Given the description of an element on the screen output the (x, y) to click on. 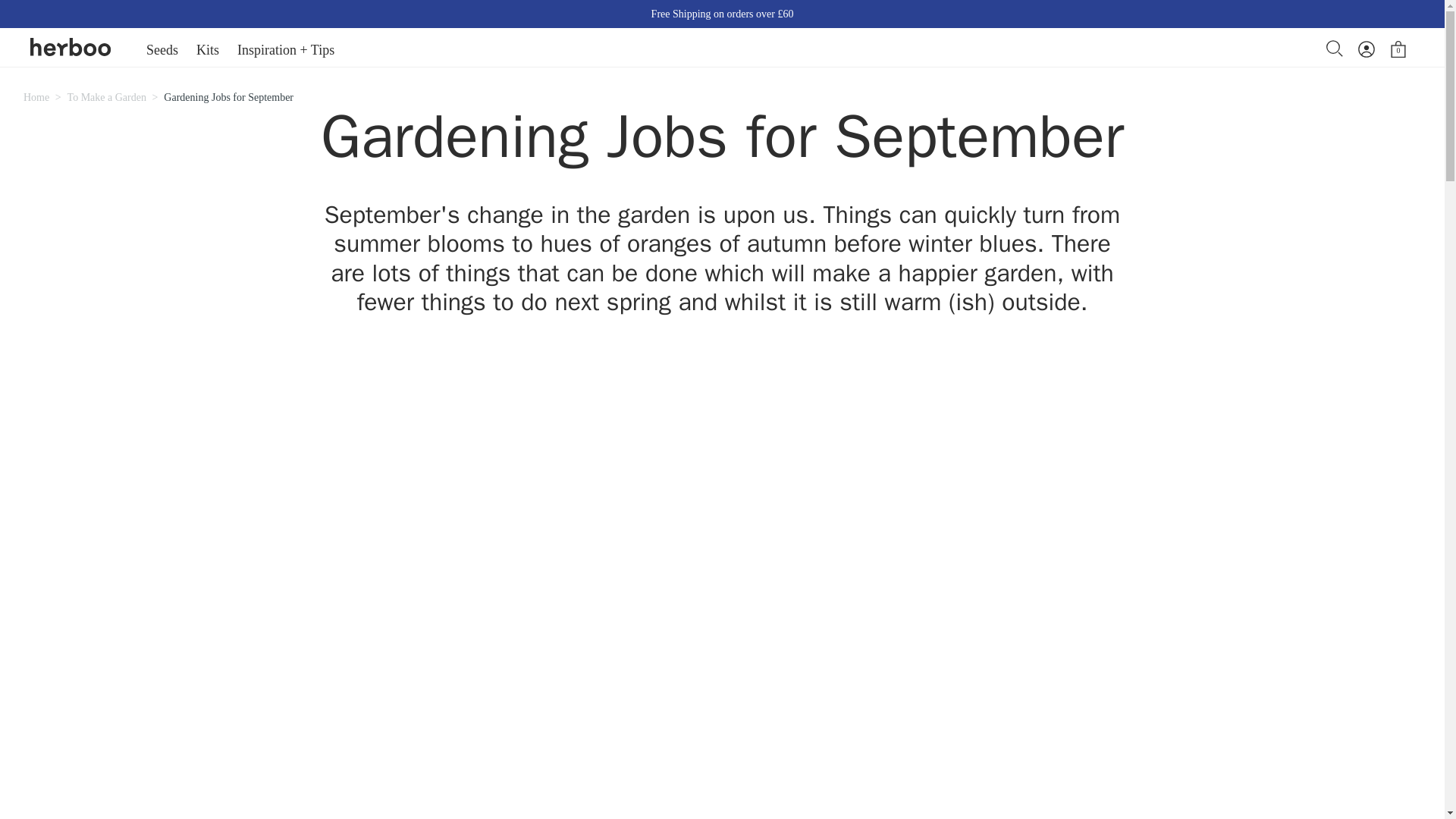
Home (36, 97)
To Make a Garden (106, 97)
Seeds (162, 50)
